Given the description of an element on the screen output the (x, y) to click on. 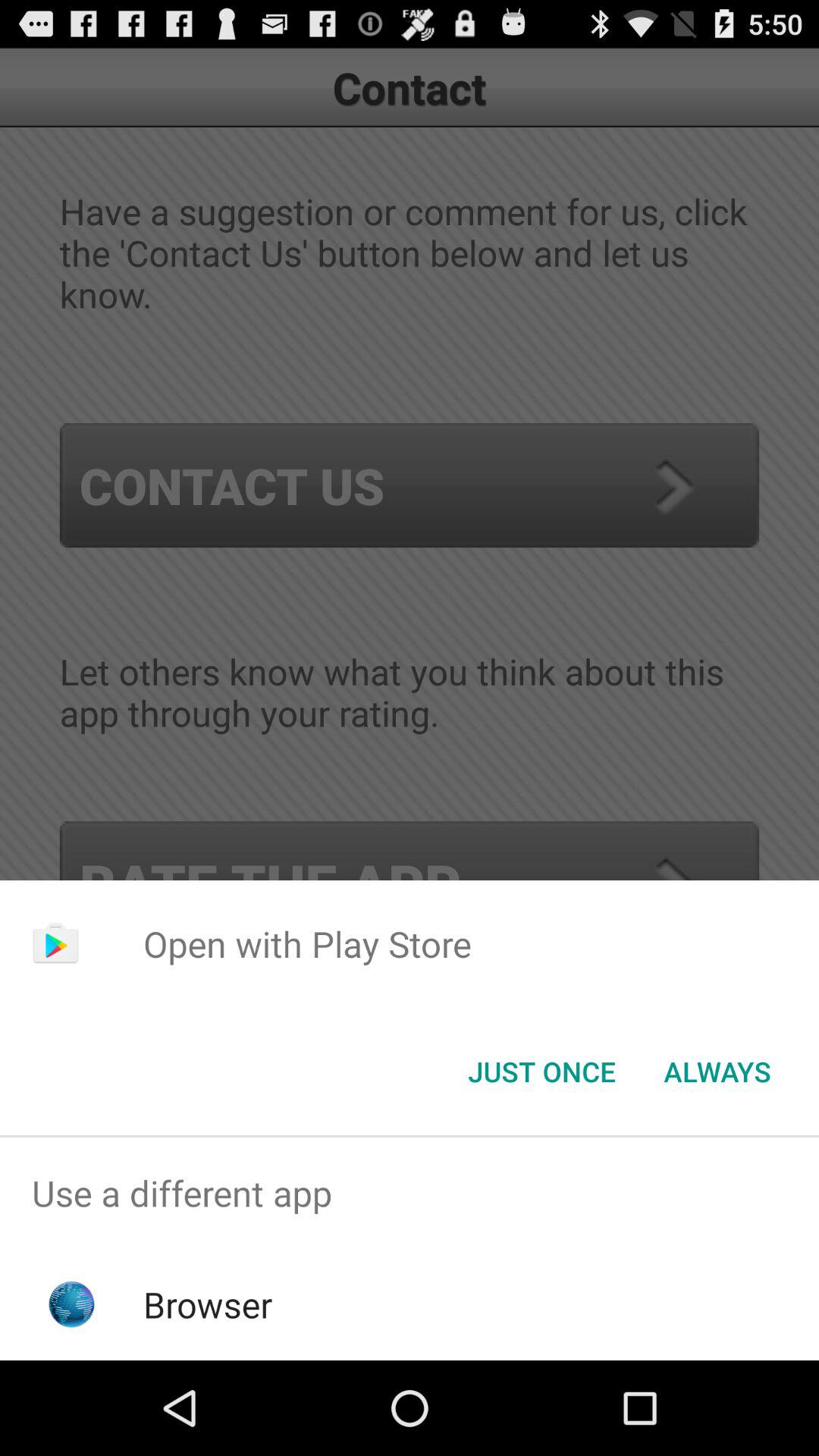
flip until just once item (541, 1071)
